Given the description of an element on the screen output the (x, y) to click on. 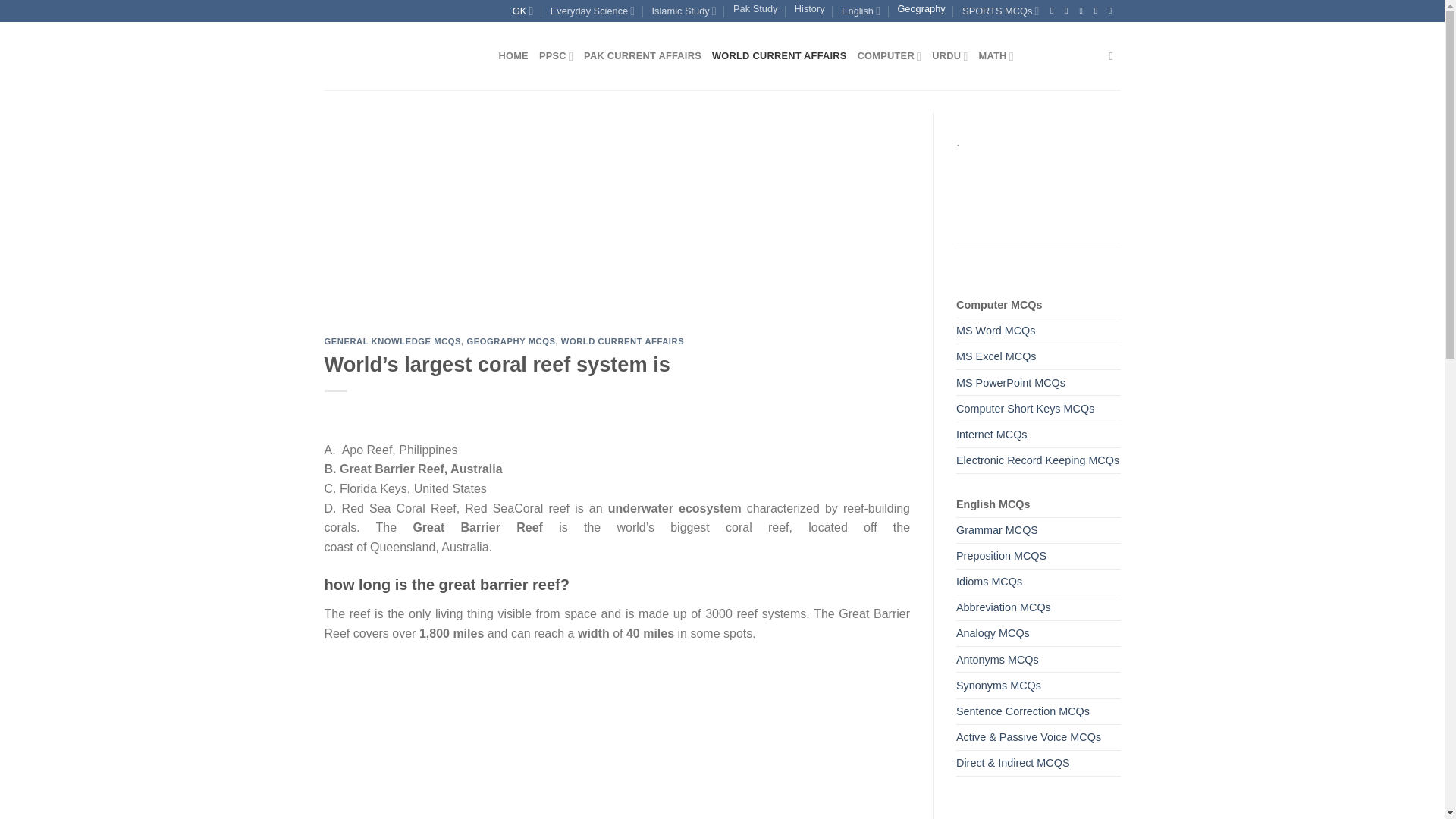
SPORTS MCQs (1000, 11)
GK (523, 11)
Pak Study (755, 8)
Geography (920, 8)
History (809, 8)
Islamic Study (684, 11)
Advertisement (617, 224)
English (860, 11)
Everyday Science (592, 11)
Advertisement (617, 739)
